Given the description of an element on the screen output the (x, y) to click on. 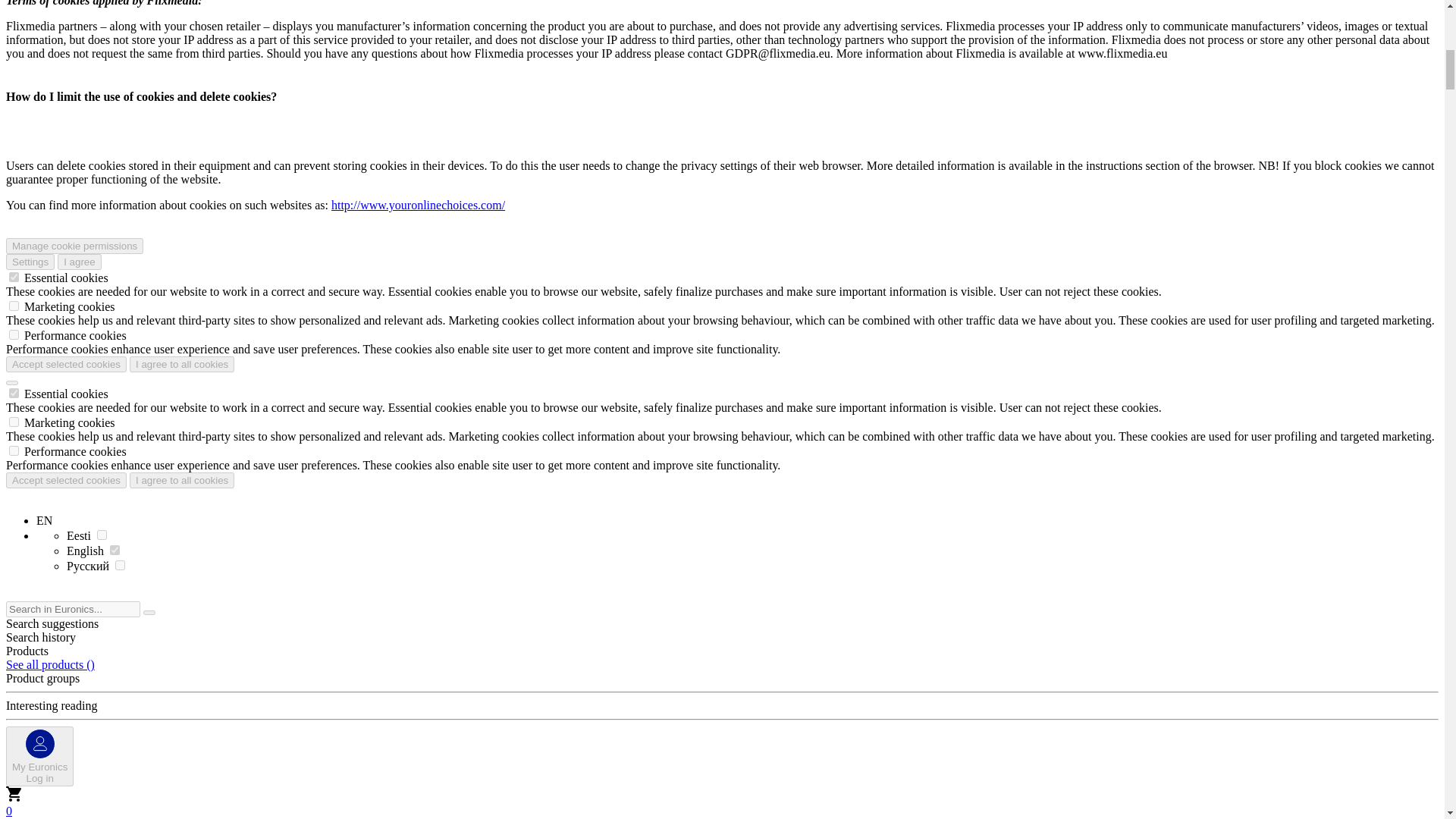
on (13, 450)
I agree to all cookies (181, 364)
on (13, 276)
on (13, 421)
on (13, 306)
on (13, 334)
Manage cookie permissions (73, 245)
Accept selected cookies (65, 364)
I agree (79, 261)
I agree to all cookies (181, 480)
Settings (30, 261)
Accept selected cookies (39, 756)
on (65, 480)
